Given the description of an element on the screen output the (x, y) to click on. 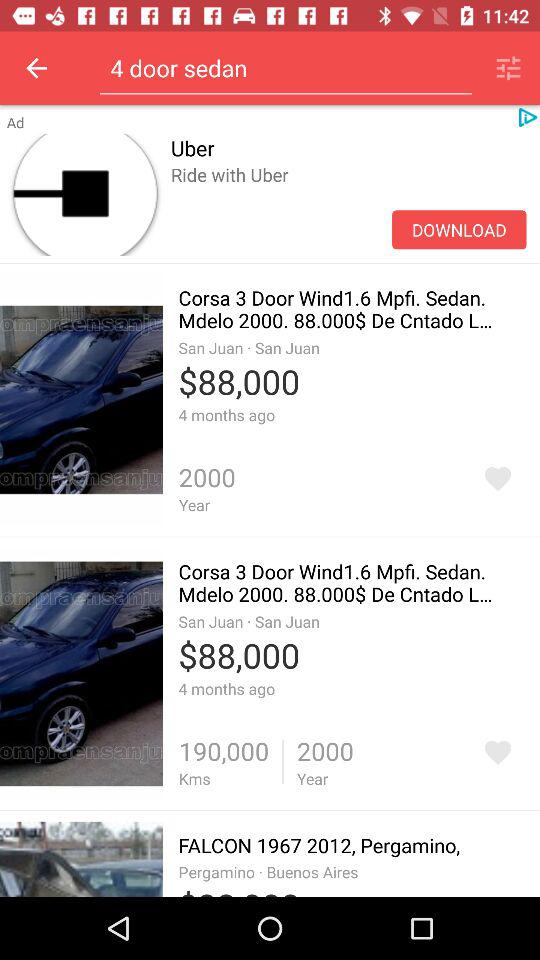
like option (497, 478)
